Given the description of an element on the screen output the (x, y) to click on. 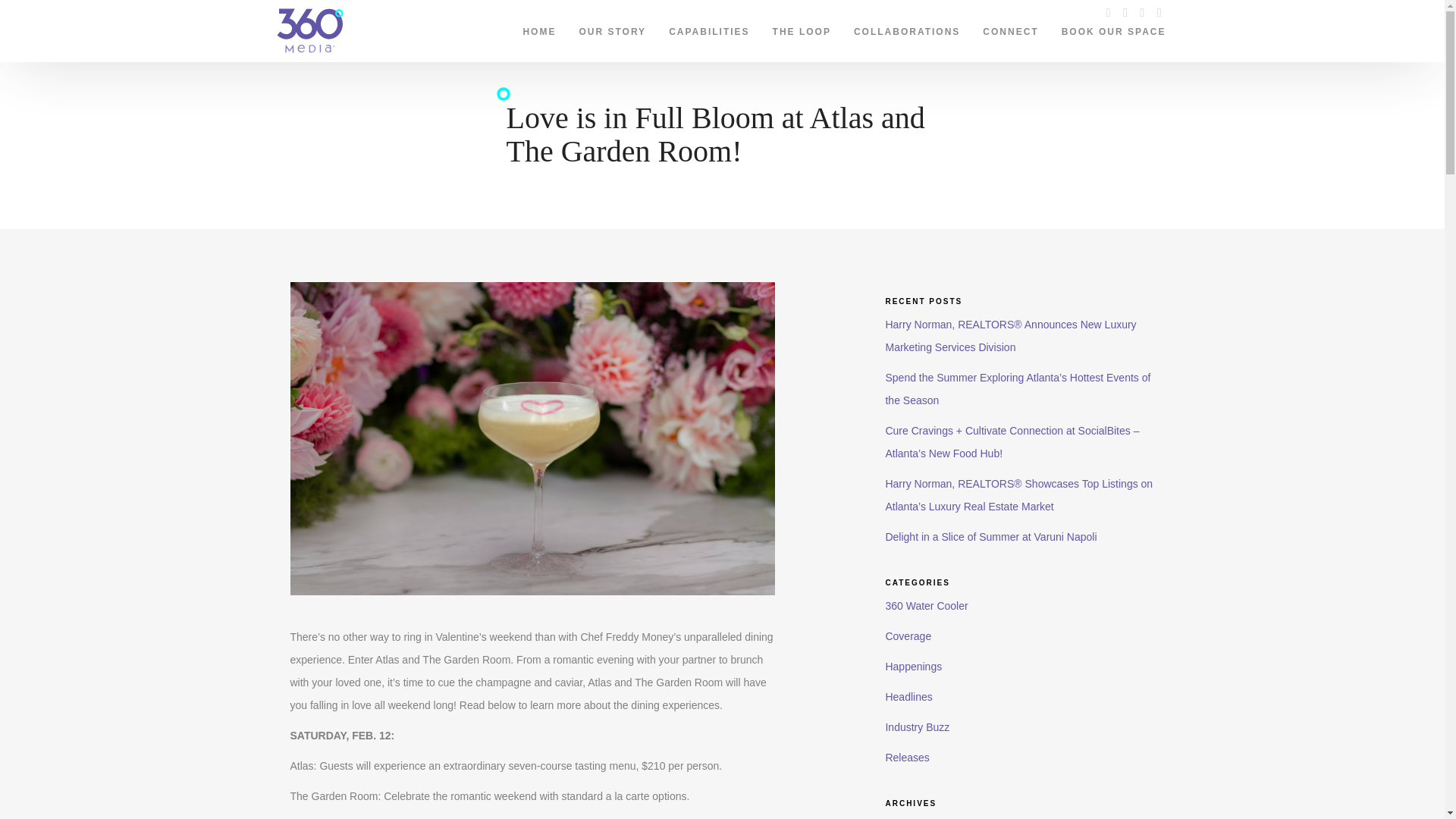
THE LOOP (802, 28)
Book Our Space (1113, 28)
Home (539, 28)
Capabilities (709, 28)
The Loop (802, 28)
HOME (539, 28)
COLLABORATIONS (907, 28)
Coverage (908, 635)
OUR STORY (612, 28)
BOOK OUR SPACE (1113, 28)
Industry Buzz (917, 727)
Connect (1010, 28)
Releases (906, 757)
Headlines (908, 696)
Collaborations (907, 28)
